Given the description of an element on the screen output the (x, y) to click on. 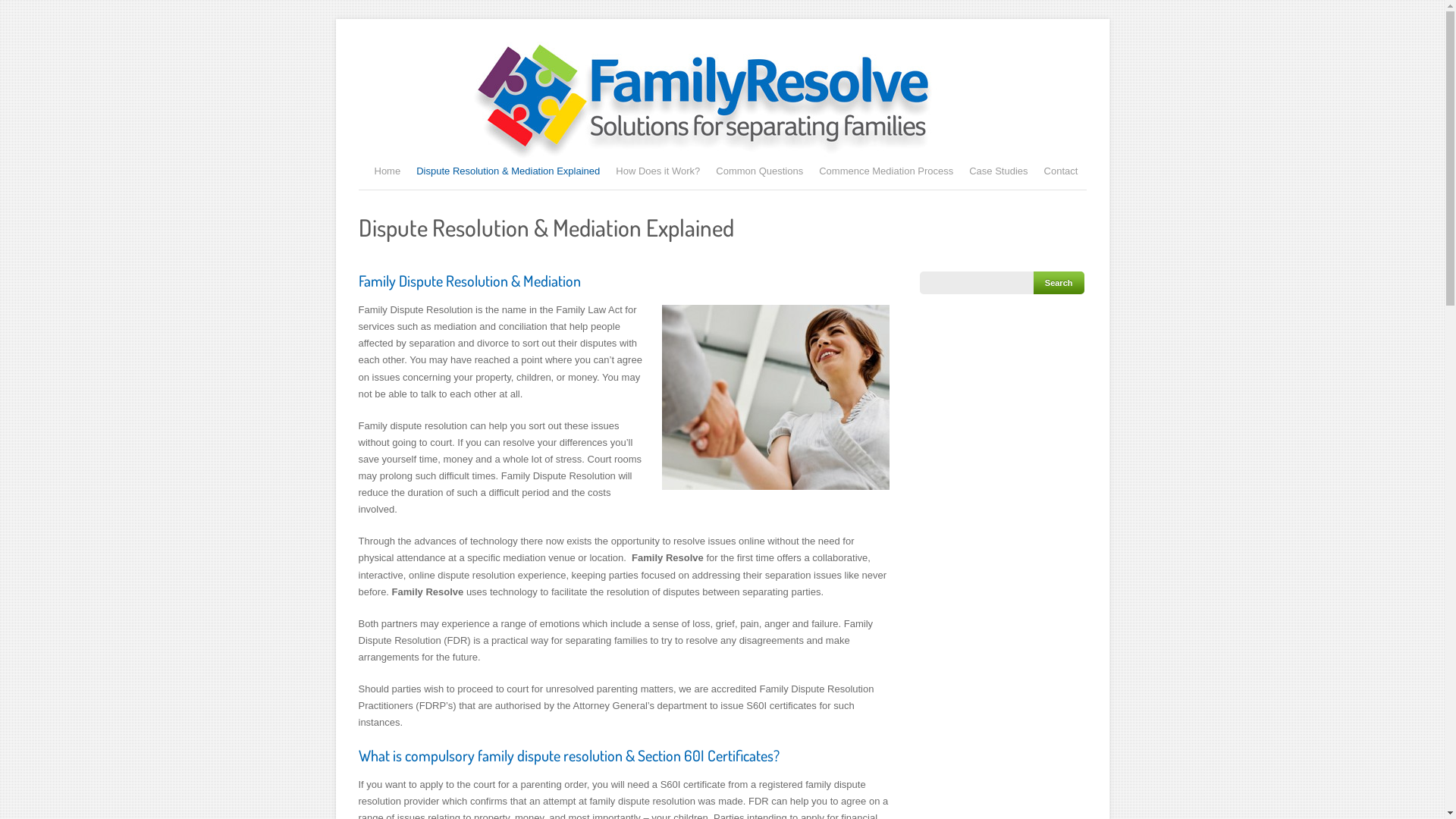
Dispute Resolution Element type: hover (774, 396)
Dispute Resolution & Mediation Explained Element type: text (507, 169)
Common Questions Element type: text (759, 169)
Home Element type: text (387, 169)
Contact Element type: text (1061, 169)
Search Element type: text (1058, 282)
How Does it Work? Element type: text (657, 169)
Case Studies Element type: text (998, 169)
Commence Mediation Process Element type: text (886, 169)
